Given the description of an element on the screen output the (x, y) to click on. 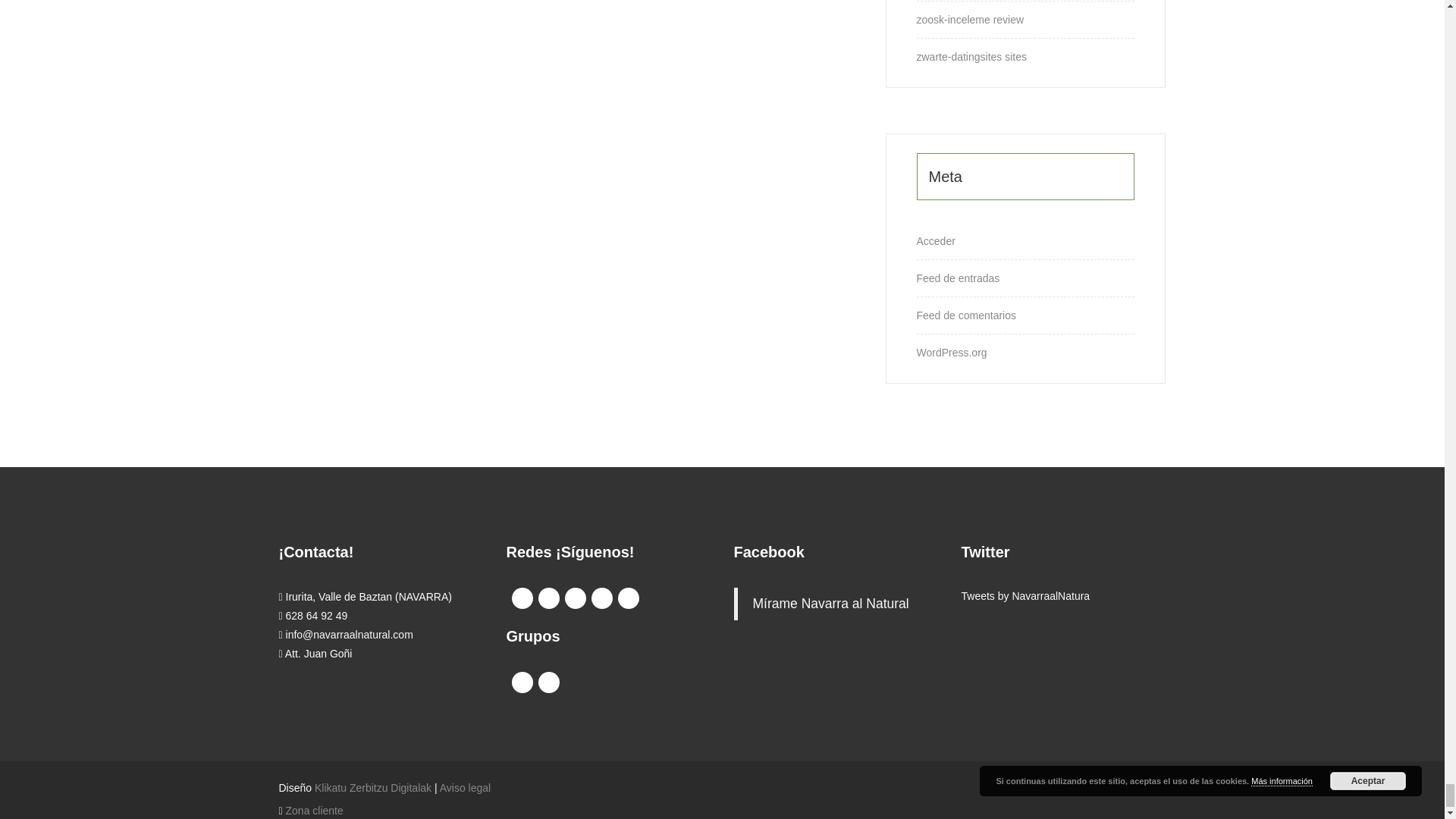
Facebook (521, 598)
